Given the description of an element on the screen output the (x, y) to click on. 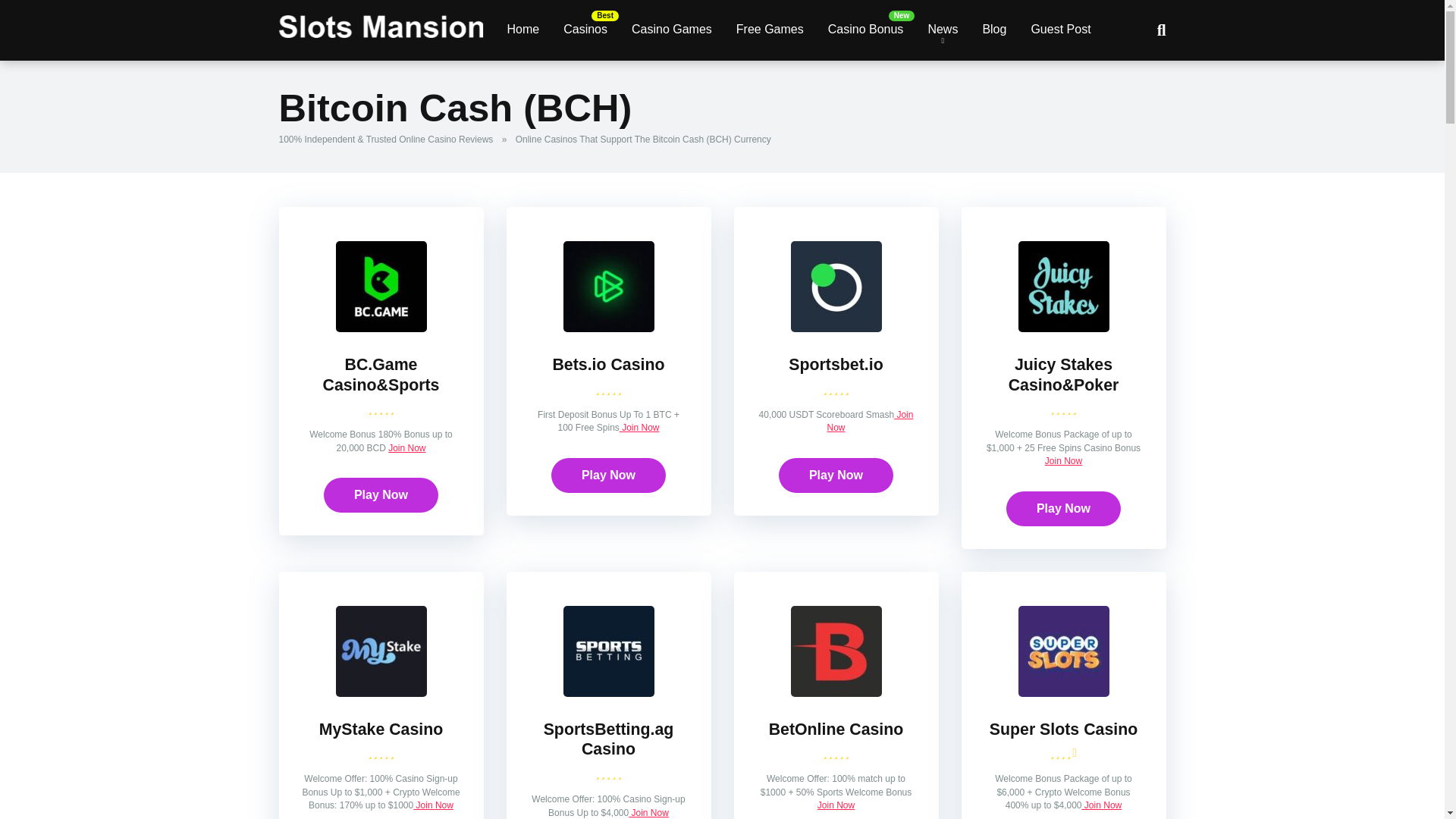
Play Now (835, 475)
MyStake Casino (380, 692)
Casino Bonus (865, 30)
Join Now (432, 805)
Guest Post (1059, 30)
SportsBetting.ag Casino (608, 739)
SportsBetting.ag Casino (607, 692)
Bets.io Casino (607, 327)
Home (523, 30)
Slots Mansion (381, 20)
MyStake Casino (380, 729)
Join Now (835, 805)
Join Now (1063, 460)
Play Now (1063, 508)
Sportsbet.io (835, 364)
